Given the description of an element on the screen output the (x, y) to click on. 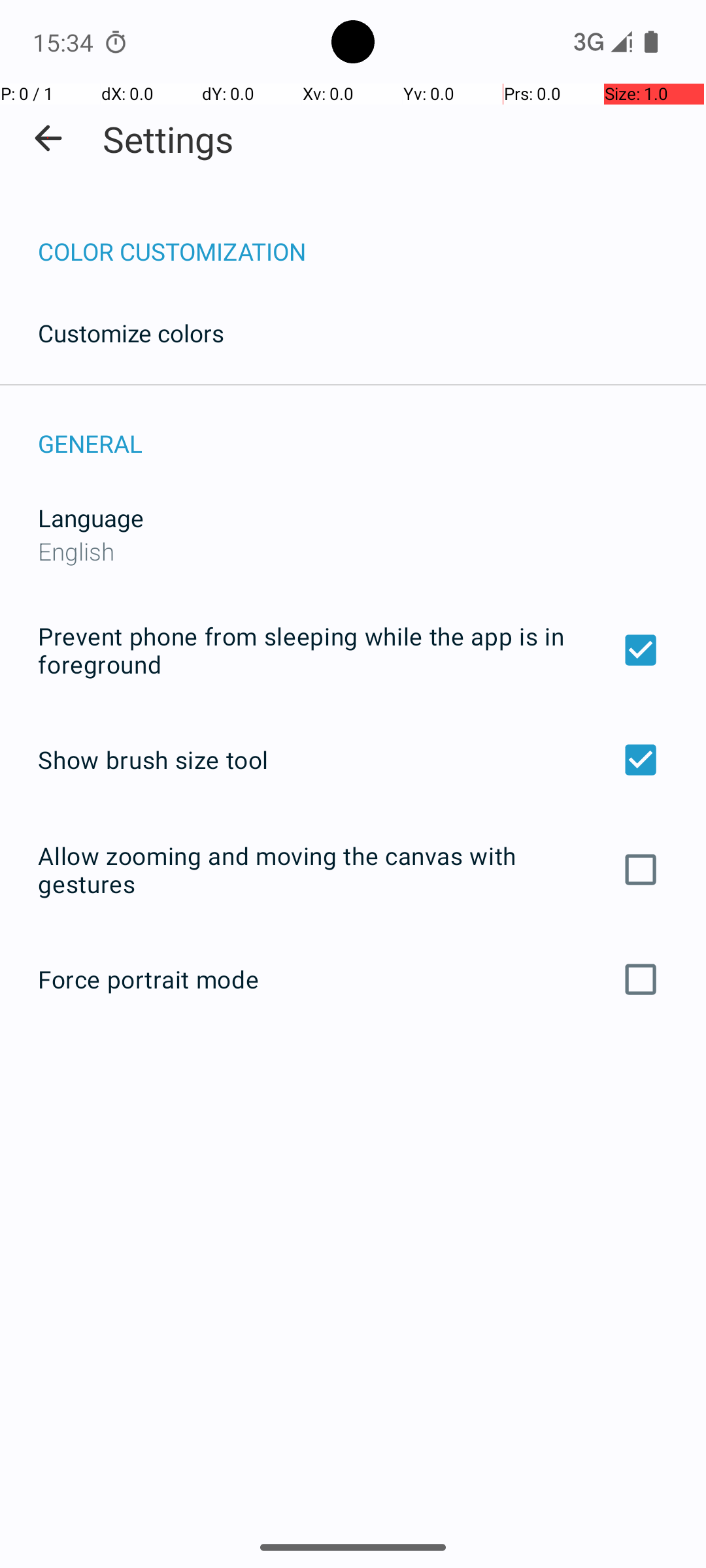
Prevent phone from sleeping while the app is in foreground Element type: android.widget.CheckBox (352, 649)
Show brush size tool Element type: android.widget.CheckBox (352, 759)
Allow zooming and moving the canvas with gestures Element type: android.widget.CheckBox (352, 869)
Force portrait mode Element type: android.widget.CheckBox (352, 979)
